Given the description of an element on the screen output the (x, y) to click on. 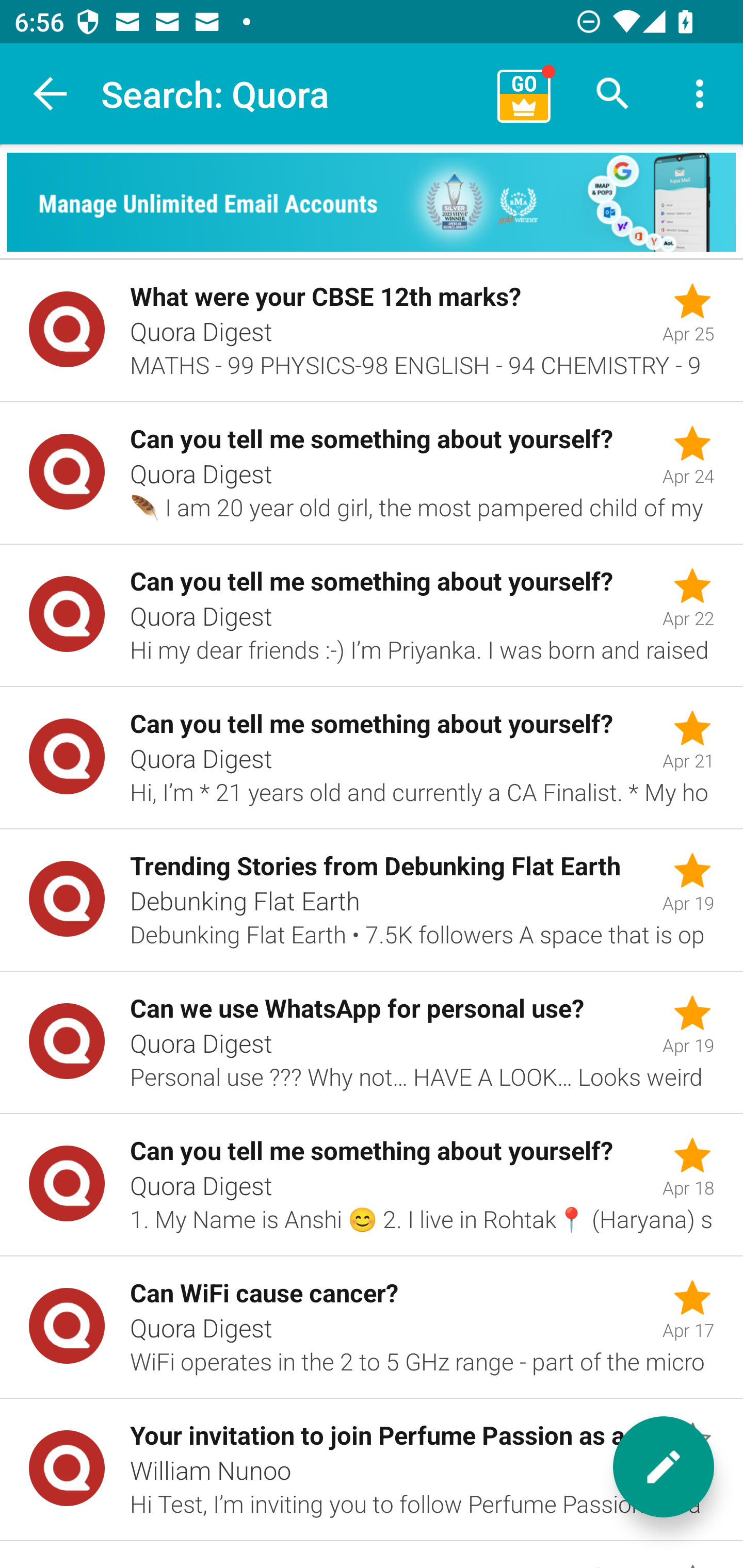
Navigate up (50, 93)
Search (612, 93)
More options (699, 93)
New message (663, 1466)
